Given the description of an element on the screen output the (x, y) to click on. 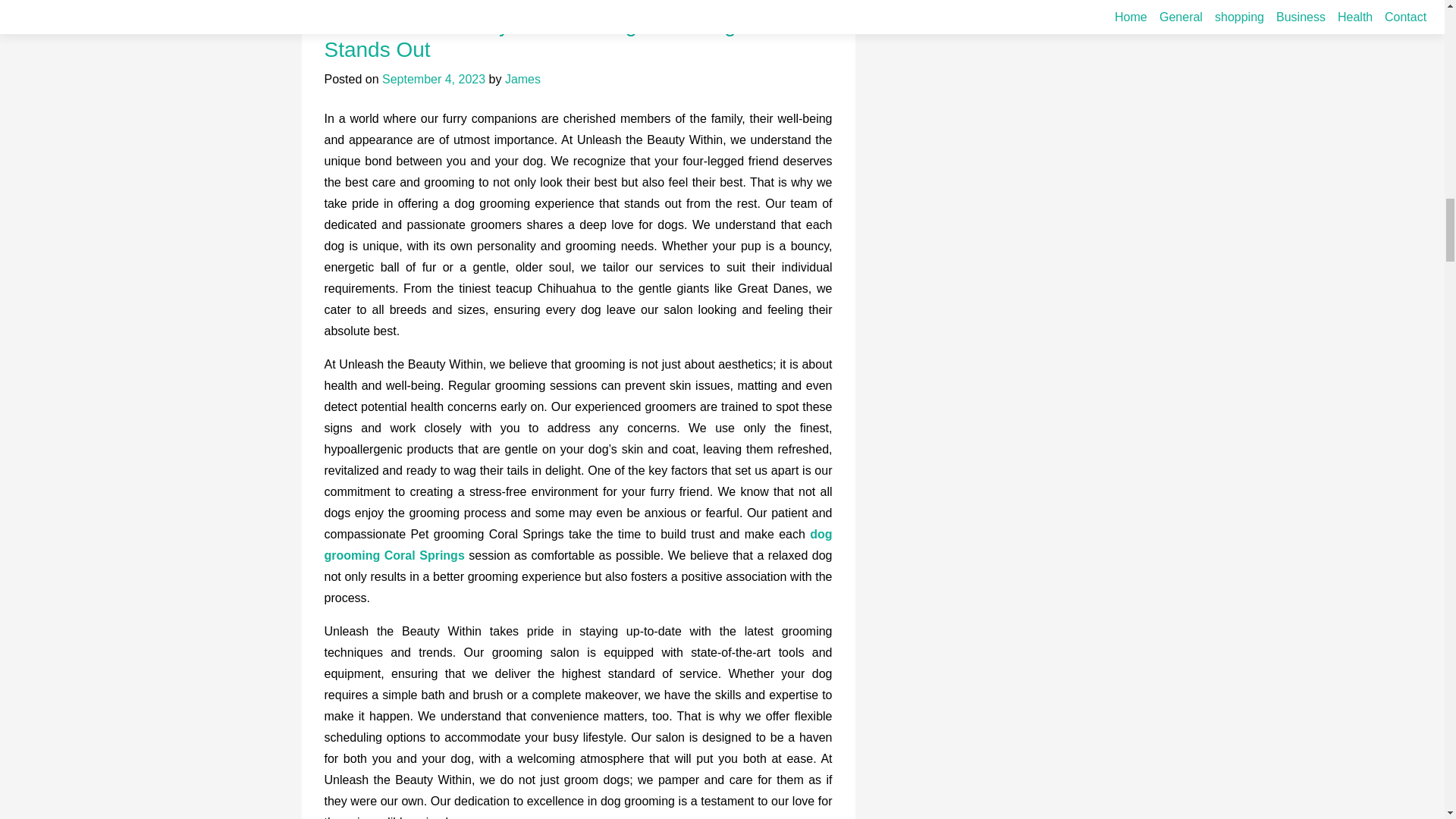
dog grooming Coral Springs (578, 544)
September 4, 2023 (432, 78)
James (522, 78)
